Given the description of an element on the screen output the (x, y) to click on. 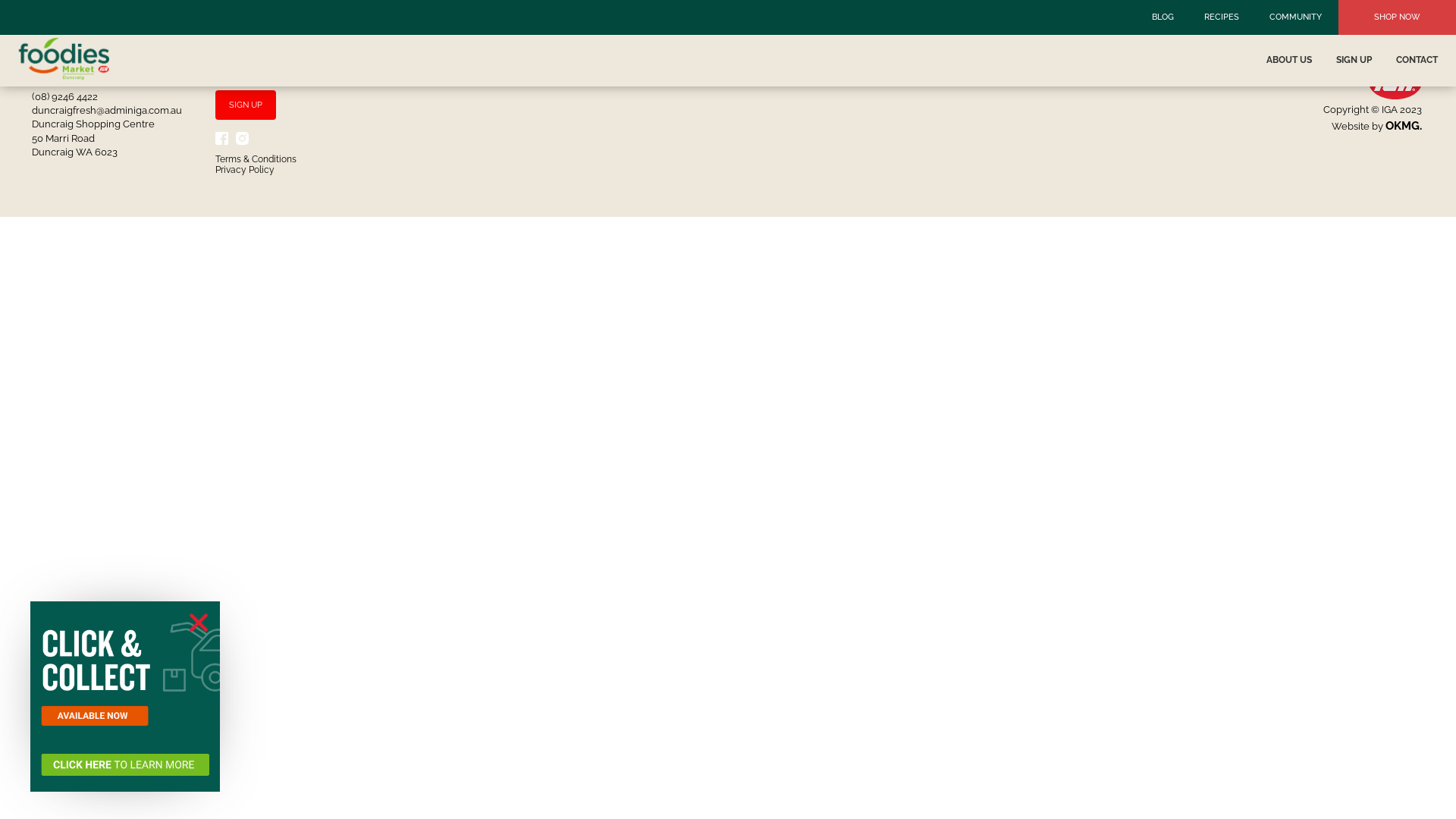
Privacy Policy Element type: text (244, 169)
(08) 9246 4422 Element type: text (64, 96)
Events Manager Element type: text (80, 22)
ABOUT US Element type: text (1288, 59)
Log In Element type: text (57, 7)
Website by OKMG. Element type: text (1376, 125)
BLOG Element type: text (1162, 17)
RECIPES Element type: text (1221, 17)
duncraigfresh@adminiga.com.au Element type: text (106, 110)
COMMUNITY Element type: text (1295, 17)
SIGN UP Element type: text (1353, 59)
CONTACT Element type: text (1416, 59)
SIGN UP Element type: text (245, 104)
Terms & Conditions Element type: text (255, 158)
